Given the description of an element on the screen output the (x, y) to click on. 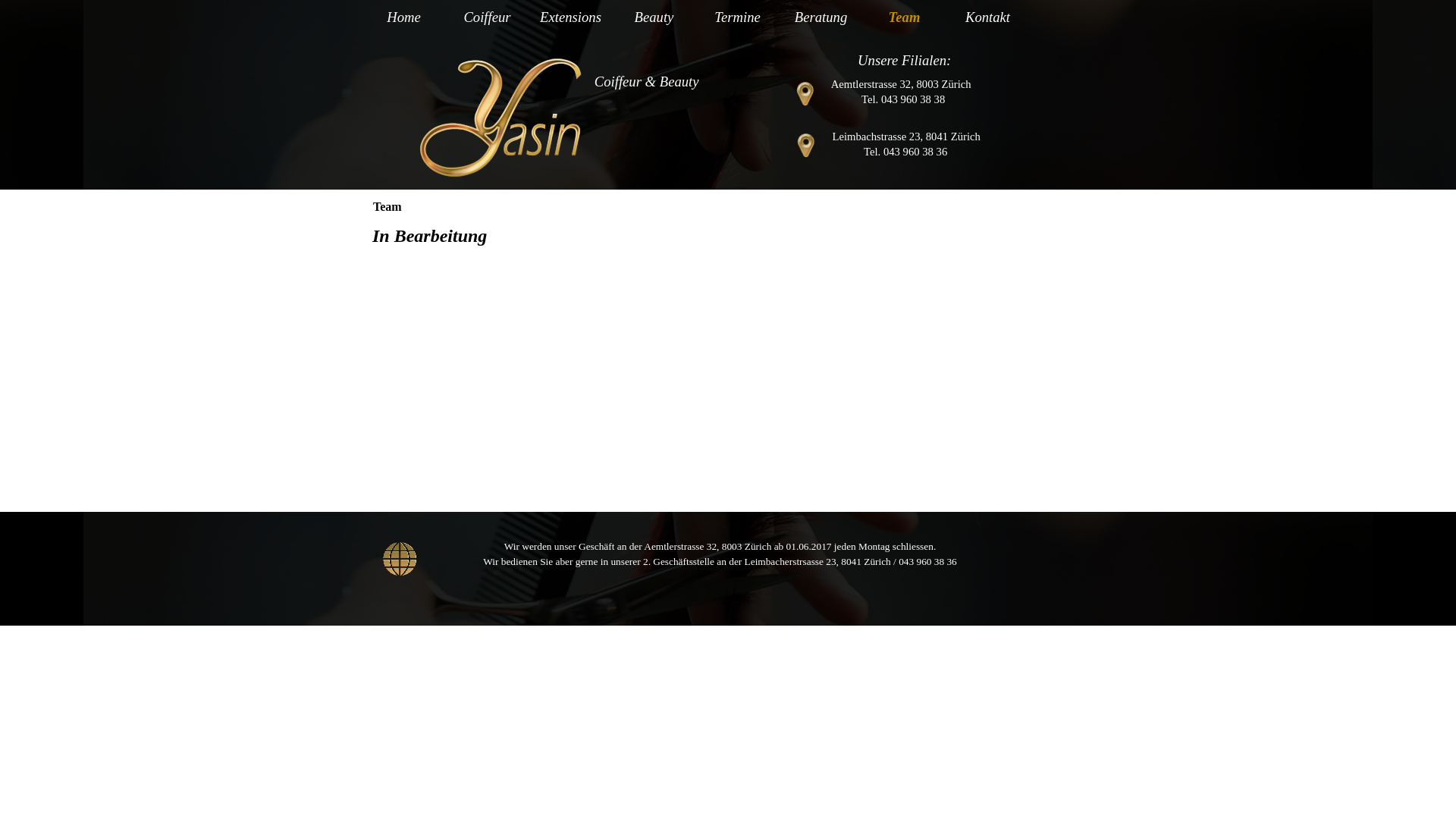
Tel. 043 960 38 38 Element type: text (902, 99)
Tel. 043 960 38 36 Element type: text (905, 151)
Coiffeur Element type: text (488, 16)
Beratung Element type: text (822, 16)
Home Element type: text (405, 16)
Kontakt Element type: text (989, 16)
Extensions Element type: text (572, 16)
Termine Element type: text (739, 16)
Team Element type: text (905, 16)
Beauty Element type: text (655, 16)
